Given the description of an element on the screen output the (x, y) to click on. 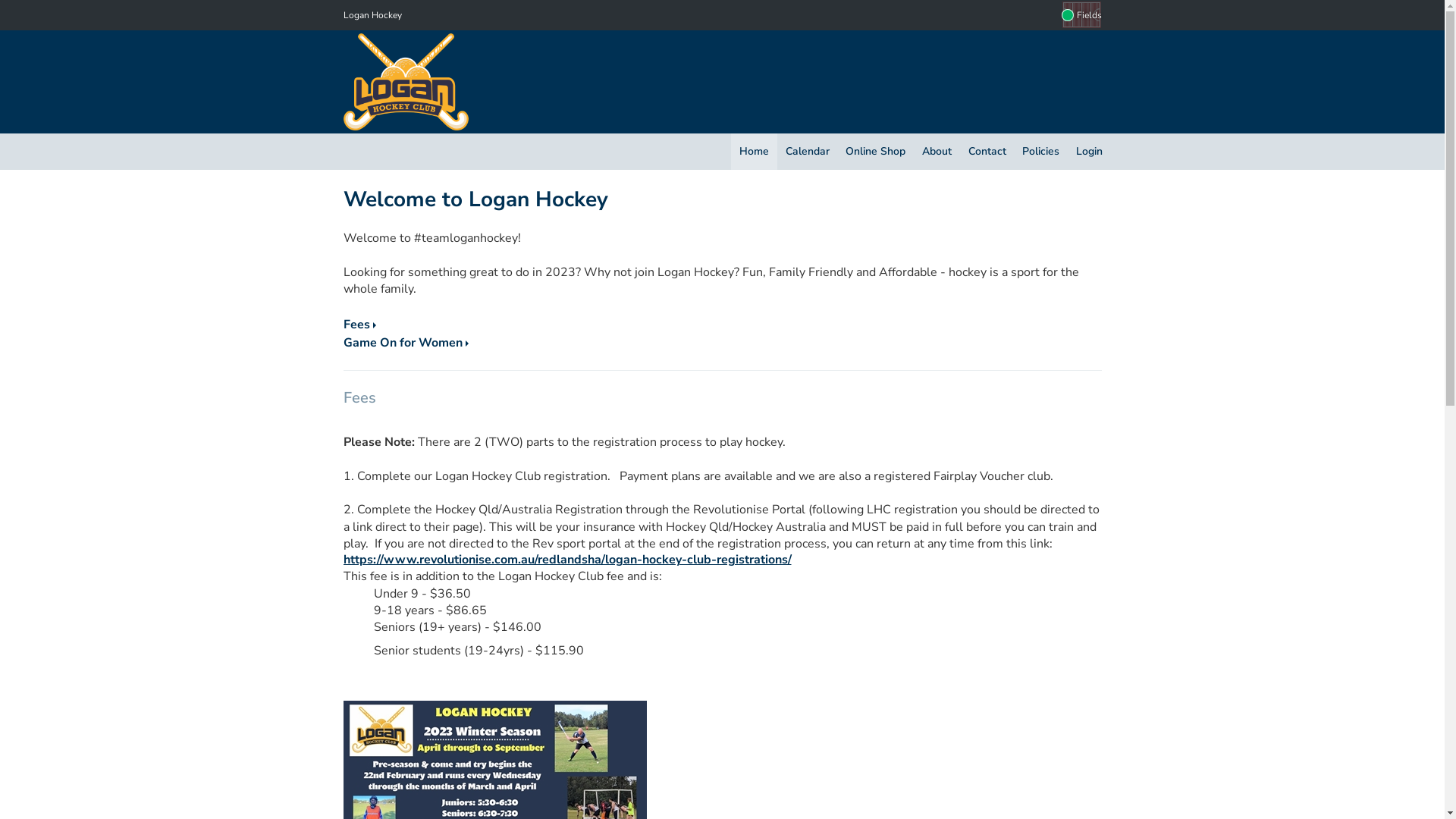
Policies Element type: text (1040, 151)
Calendar Element type: text (807, 151)
Fields Element type: text (1081, 15)
Home Element type: text (754, 151)
Logan Hockey Element type: text (371, 15)
About Element type: text (936, 151)
Contact Element type: text (987, 151)
Game On for Women Element type: text (404, 342)
Login Element type: text (1088, 151)
Online Shop Element type: text (875, 151)
Fees Element type: text (358, 324)
